Given the description of an element on the screen output the (x, y) to click on. 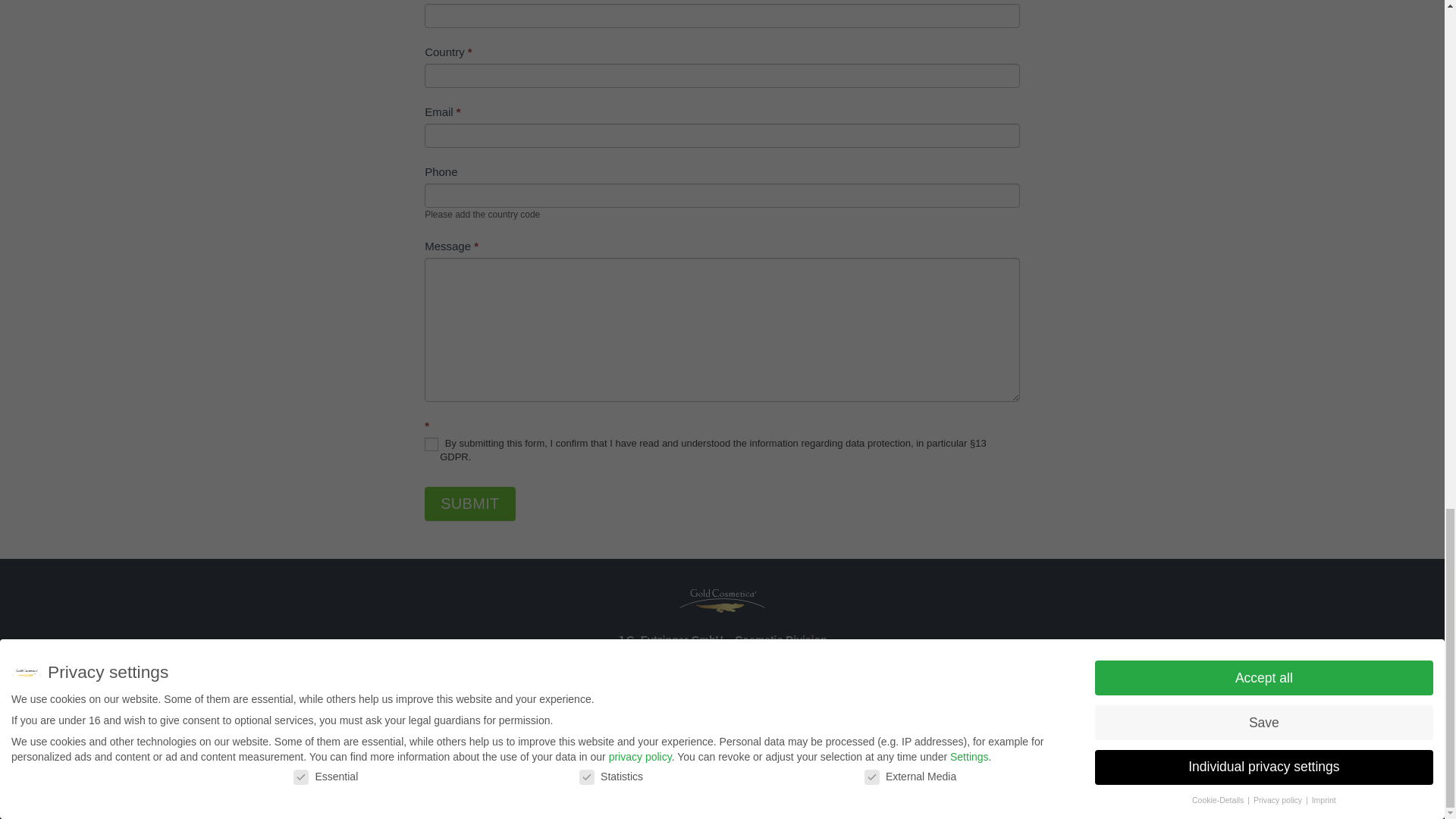
SUBMIT (470, 503)
Data Protection Declaration (790, 699)
Imprint (671, 699)
Contact (602, 699)
gold-cosmetica-light (722, 600)
